Given the description of an element on the screen output the (x, y) to click on. 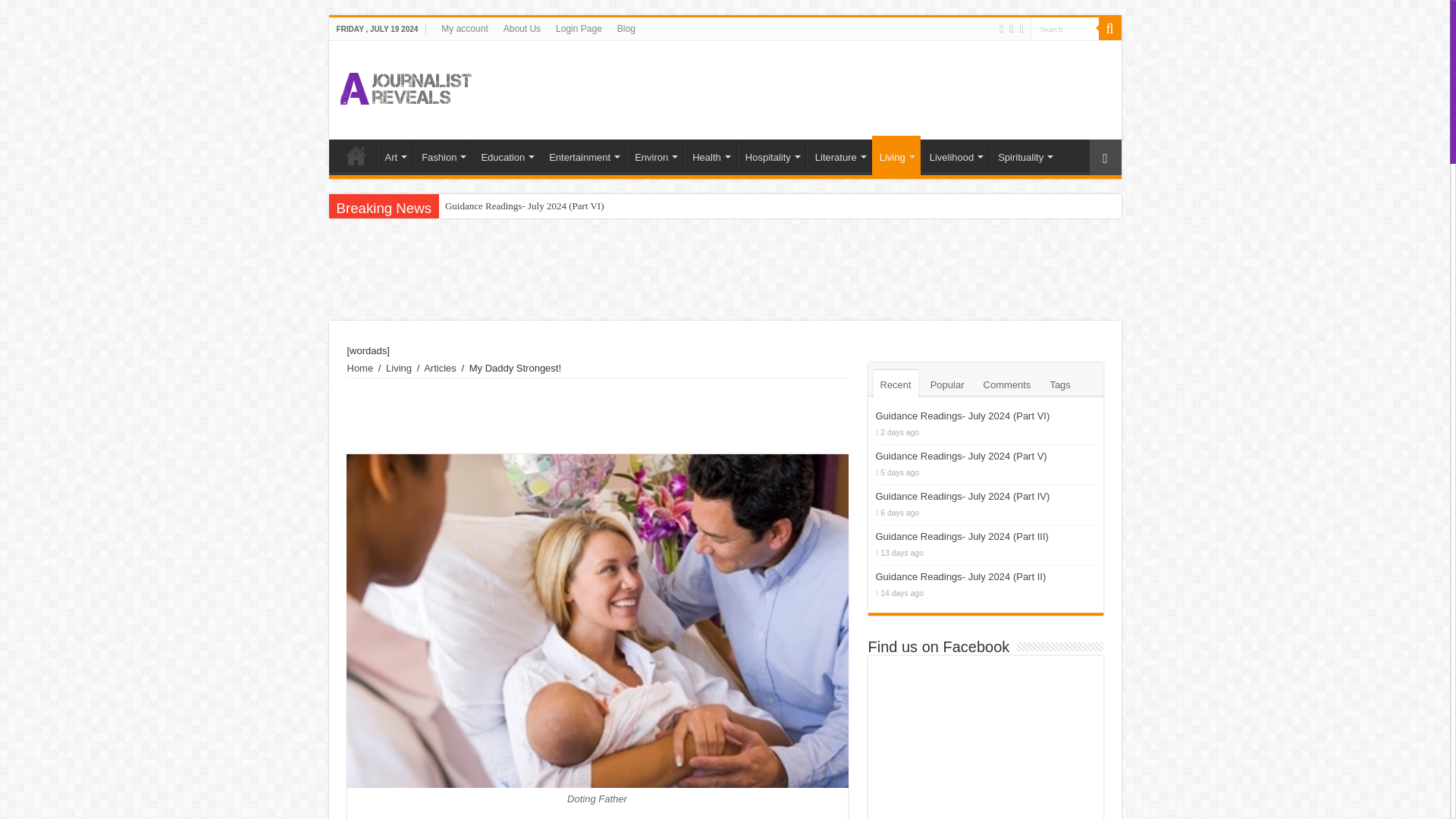
A Journalist Reveals (405, 85)
Search (1063, 28)
Advertisement (833, 90)
Search (1063, 28)
